Given the description of an element on the screen output the (x, y) to click on. 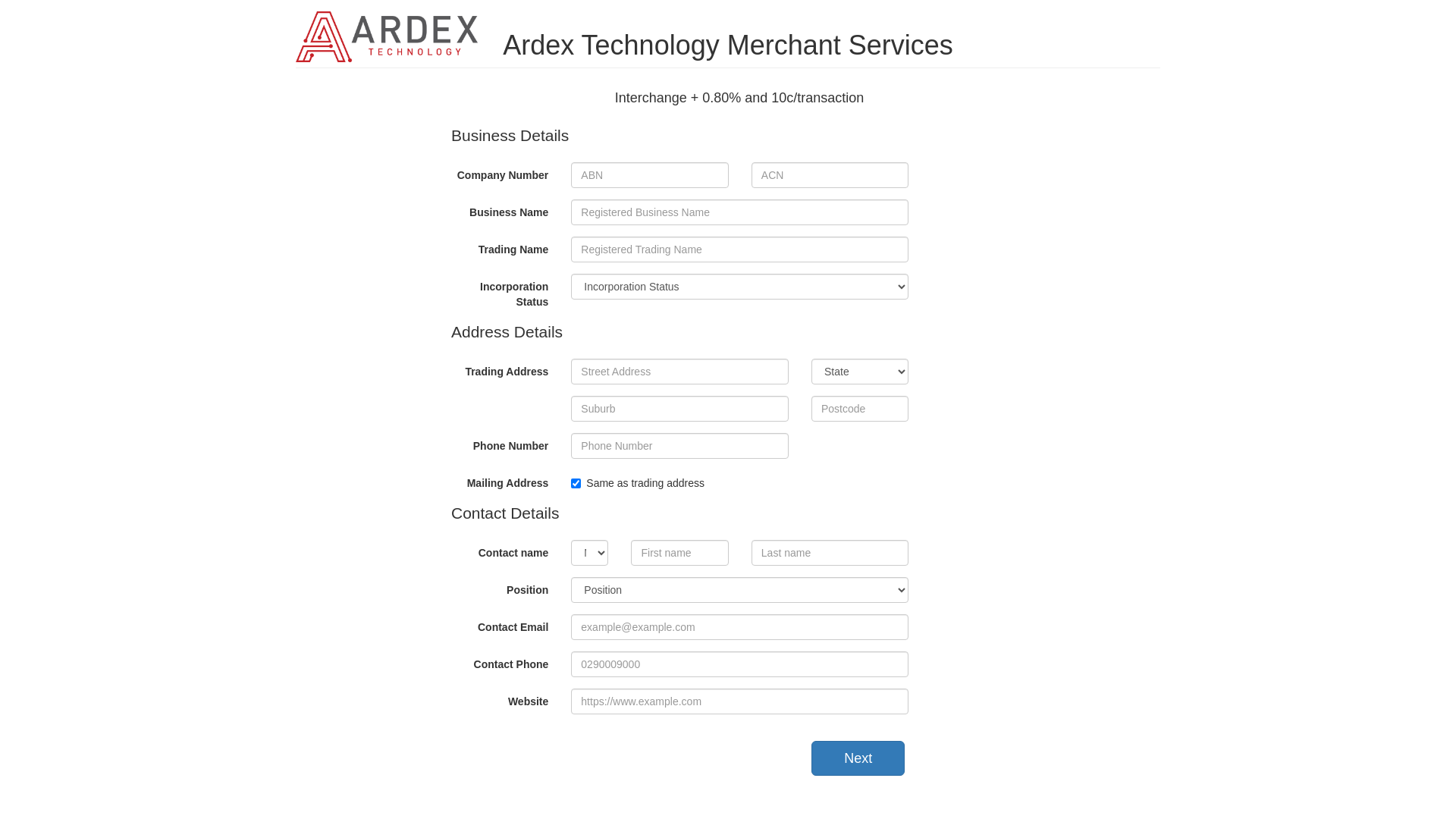
Next Element type: text (857, 757)
